Given the description of an element on the screen output the (x, y) to click on. 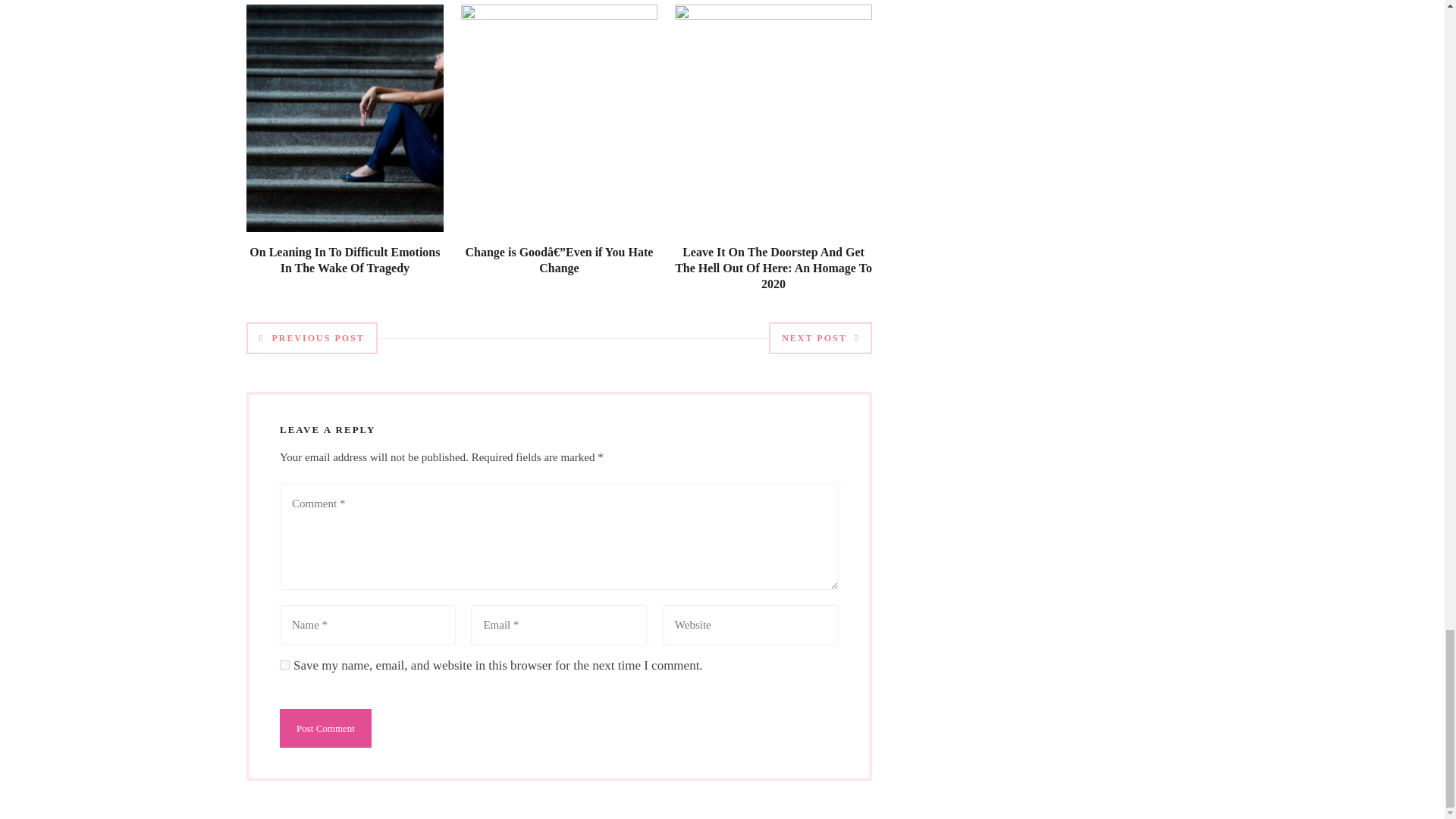
Post Comment (325, 728)
yes (284, 664)
On Leaning In To Difficult Emotions In The Wake Of Tragedy (343, 259)
